Given the description of an element on the screen output the (x, y) to click on. 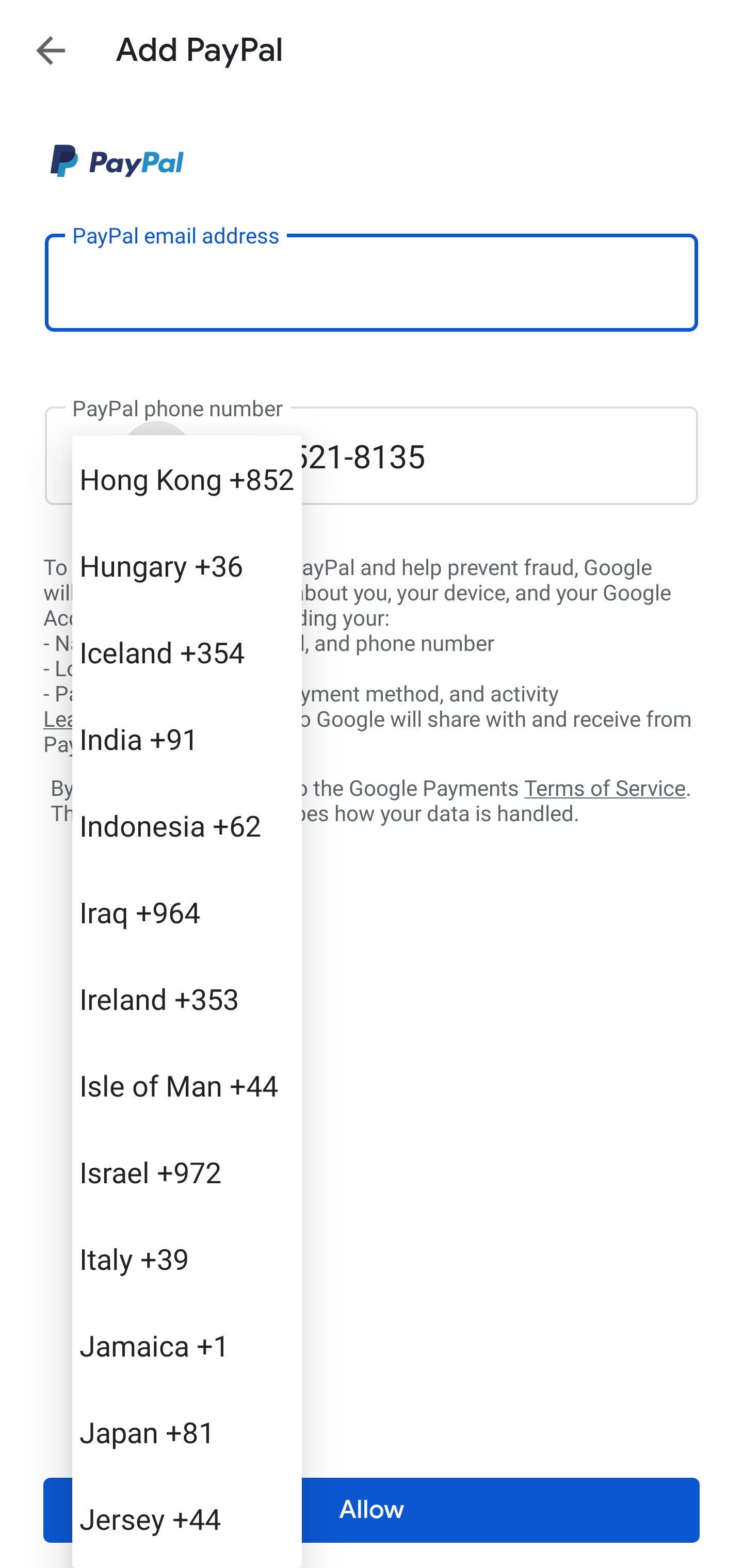
Hong Kong +852 (186, 478)
Hungary +36 (186, 565)
Iceland +354 (186, 651)
India +91 (186, 738)
Indonesia +62 (186, 825)
Iraq +964 (186, 911)
Ireland +353 (186, 997)
Isle of Man +44 (186, 1084)
Israel +972 (186, 1171)
Italy +39 (186, 1258)
Jamaica +1 (186, 1345)
Japan +81 (186, 1432)
Jersey +44 (186, 1518)
